Given the description of an element on the screen output the (x, y) to click on. 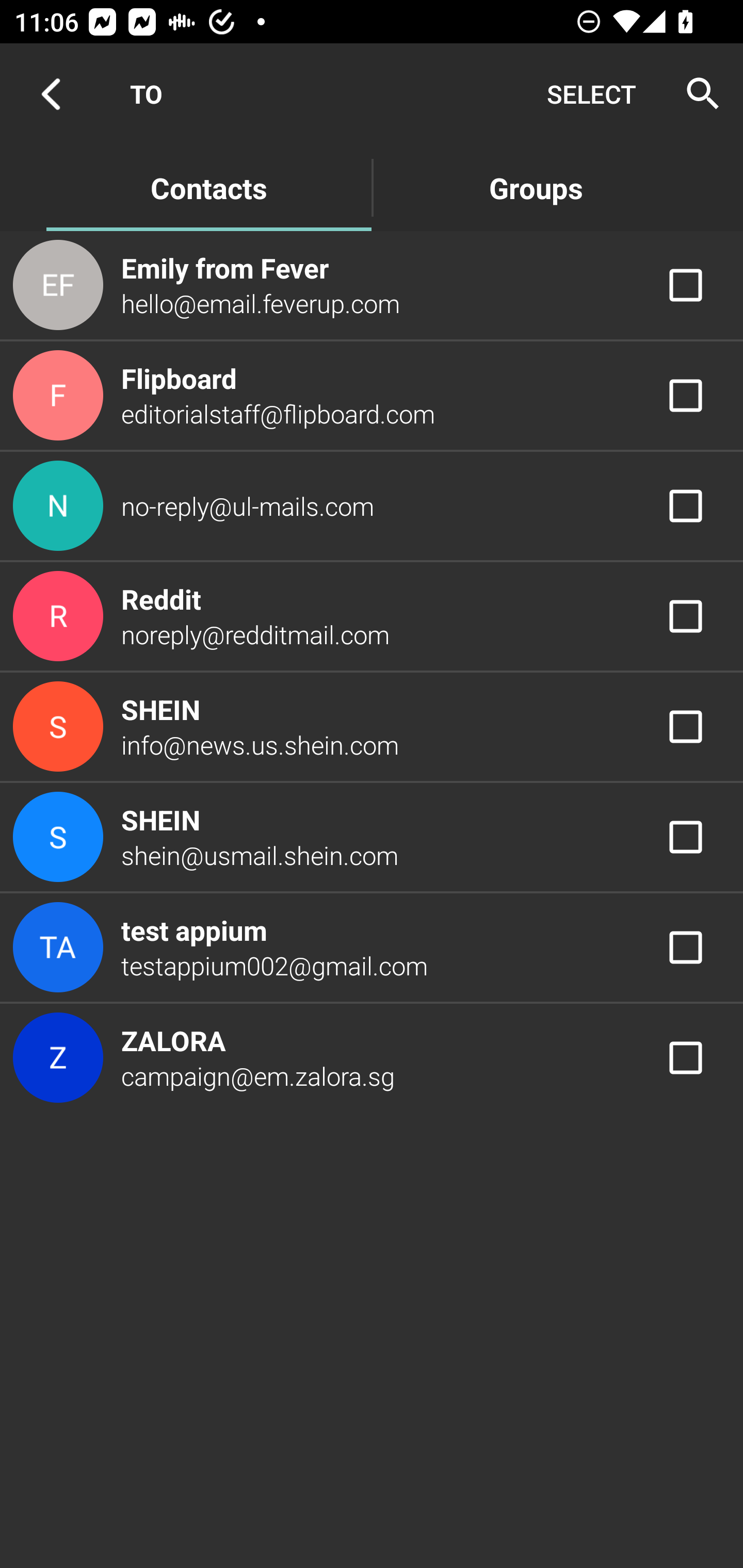
Navigate up (50, 93)
SELECT (590, 93)
Search (696, 93)
Contacts (208, 187)
Groups (535, 187)
Emily from Fever hello@email.feverup.com (371, 284)
Flipboard editorialstaff@flipboard.com (371, 395)
no-reply@ul-mails.com (371, 505)
Reddit noreply@redditmail.com (371, 616)
SHEIN info@news.us.shein.com (371, 726)
SHEIN shein@usmail.shein.com (371, 836)
test appium testappium002@gmail.com (371, 947)
ZALORA campaign@em.zalora.sg (371, 1057)
